Given the description of an element on the screen output the (x, y) to click on. 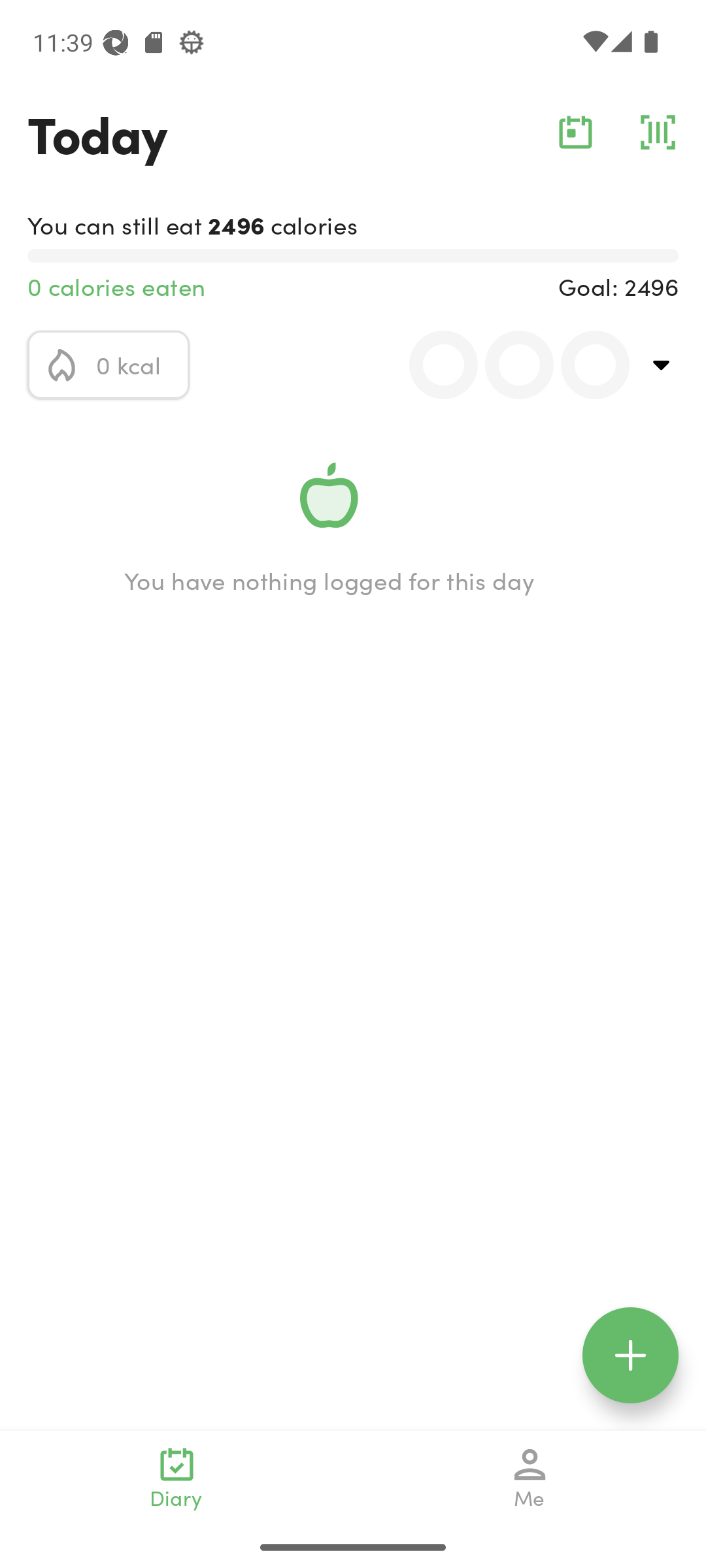
calendar_action (575, 132)
barcode_action (658, 132)
calorie_icon 0 kcal (108, 365)
0.0 0.0 0.0 (508, 365)
top_right_action (661, 365)
floating_action_icon (630, 1355)
Me navigation_icon (529, 1478)
